Given the description of an element on the screen output the (x, y) to click on. 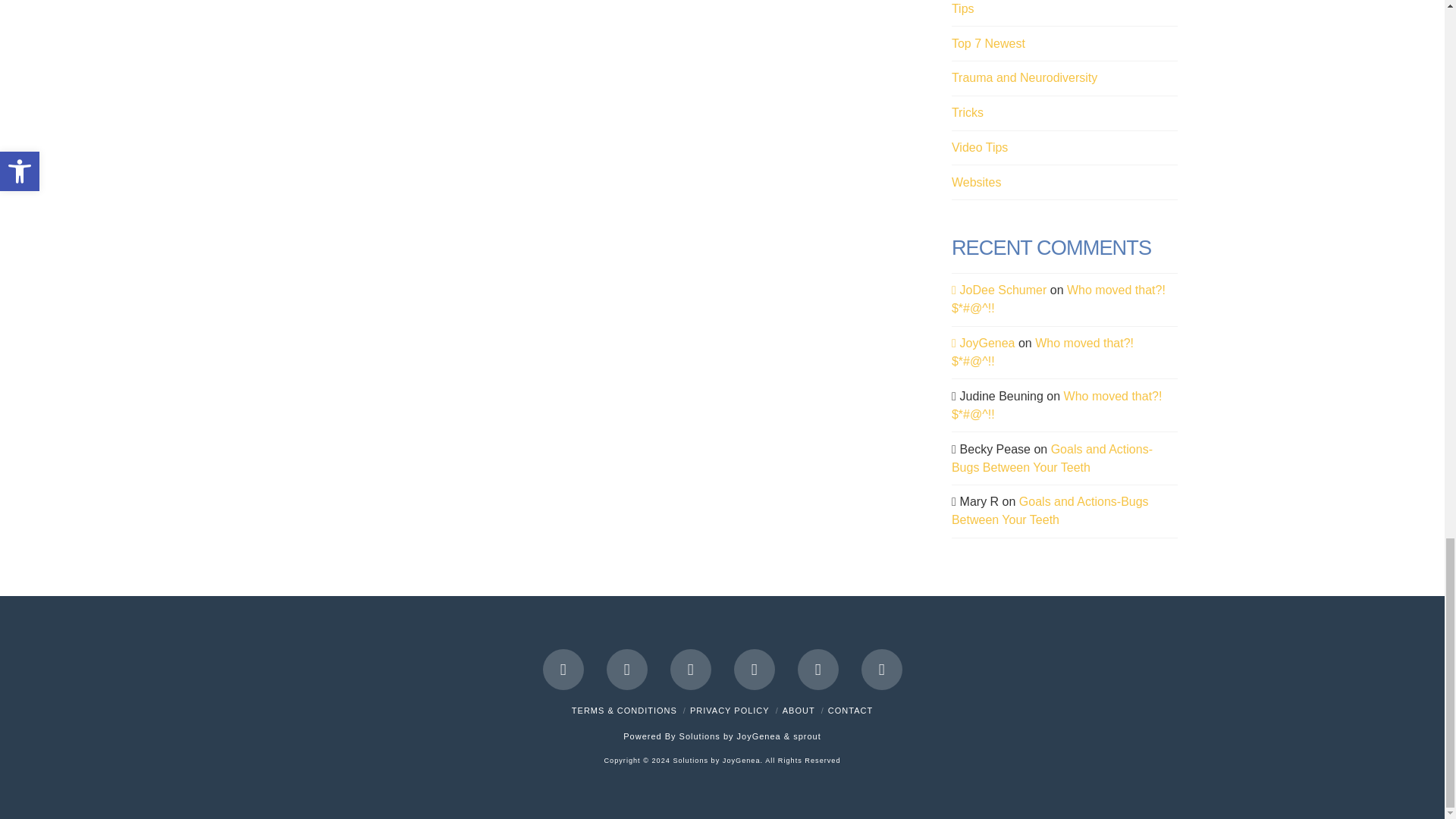
Facebook (563, 669)
YouTube (753, 669)
Pinterest (881, 669)
Instagram (817, 669)
LinkedIn (690, 669)
